Given the description of an element on the screen output the (x, y) to click on. 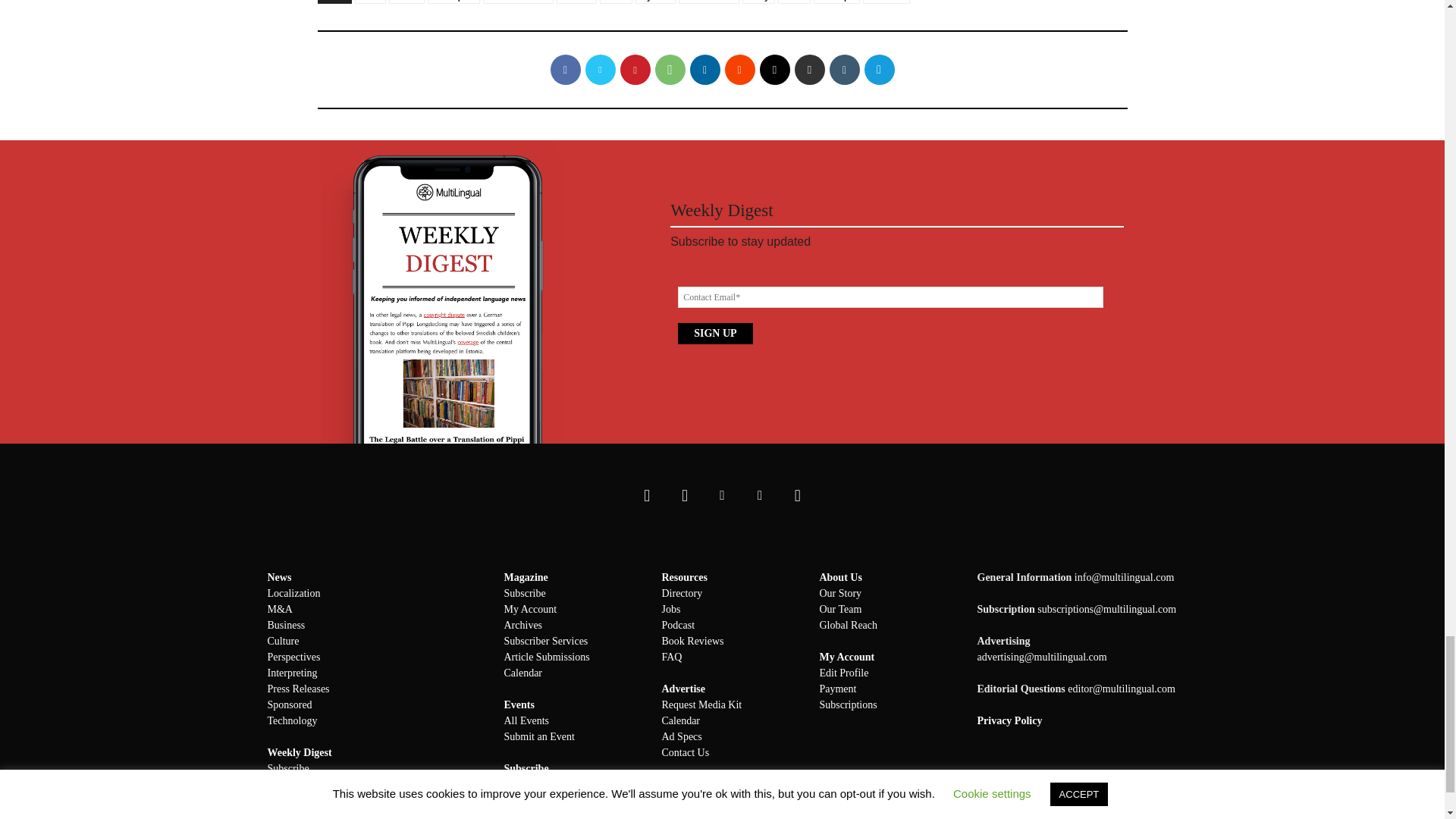
SIGN UP (715, 332)
